Given the description of an element on the screen output the (x, y) to click on. 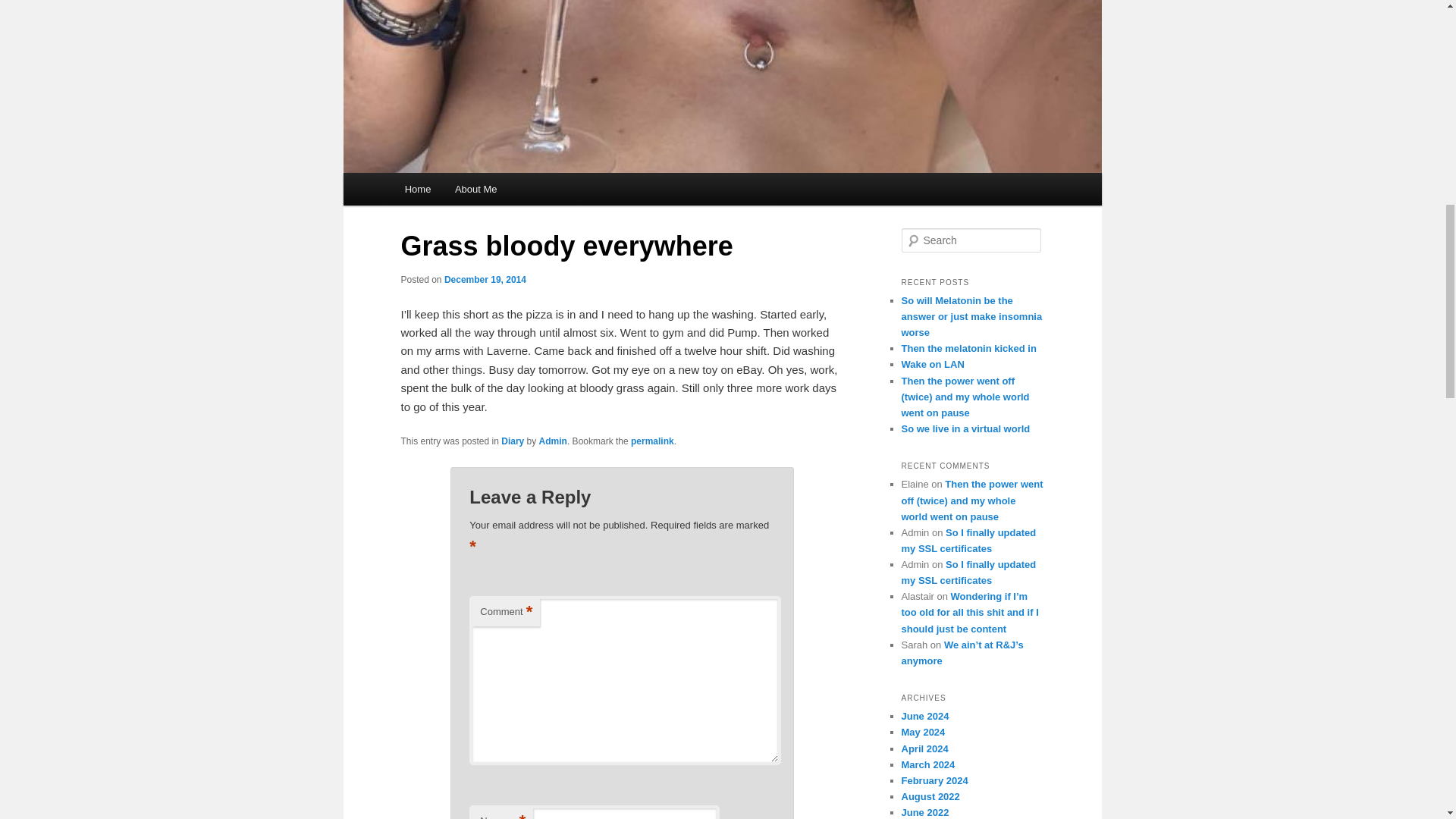
May 2024 (922, 731)
So we live in a virtual world (965, 428)
Then the melatonin kicked in (968, 348)
11:41 pm (484, 279)
Diary (512, 440)
June 2022 (925, 812)
So will Melatonin be the answer or just make insomnia worse (971, 316)
June 2024 (925, 715)
So I finally updated my SSL certificates (968, 540)
December 19, 2014 (484, 279)
